Given the description of an element on the screen output the (x, y) to click on. 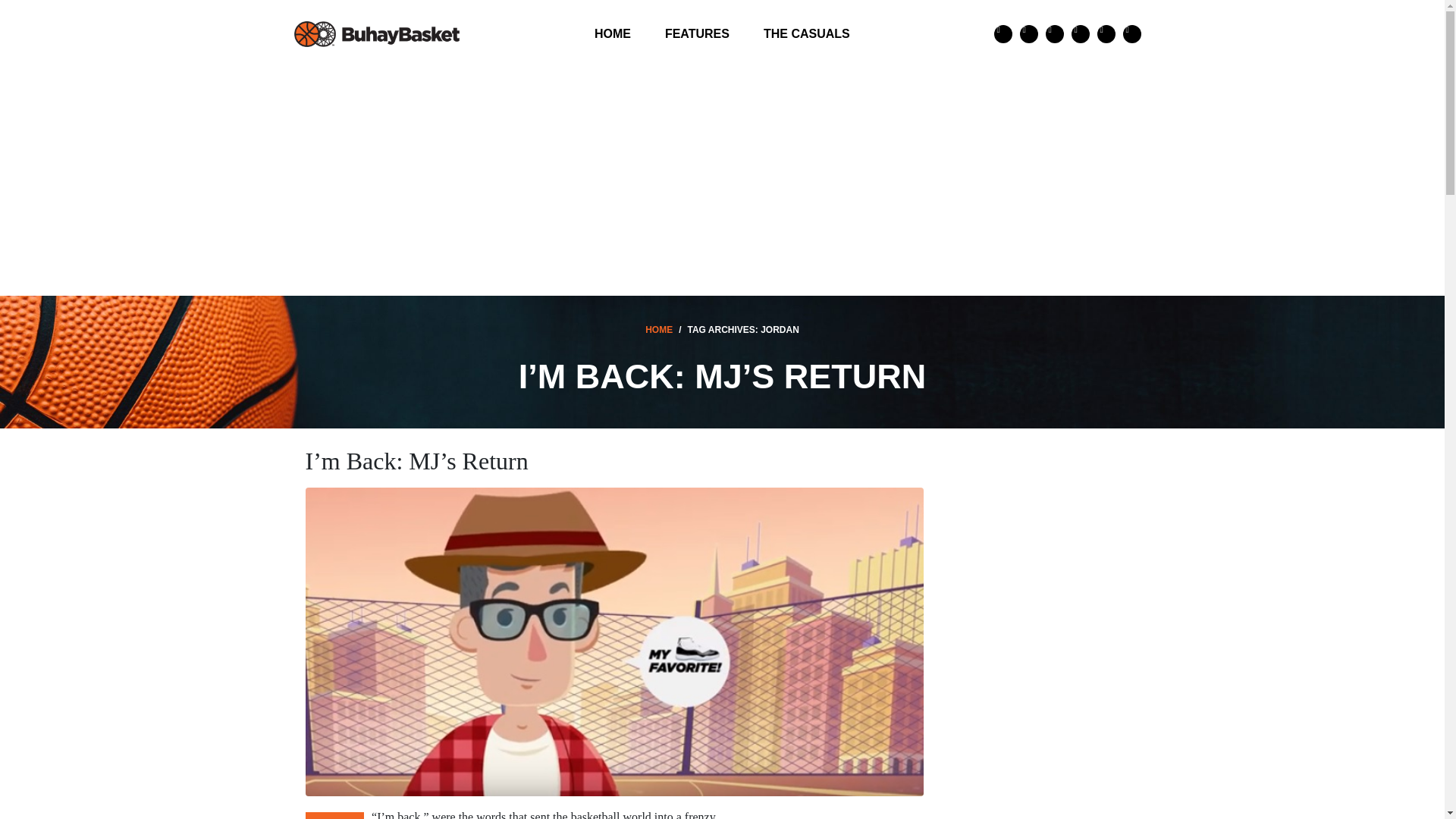
FEATURES (696, 33)
HOME (658, 329)
THE CASUALS (806, 33)
HOME (612, 33)
